Given the description of an element on the screen output the (x, y) to click on. 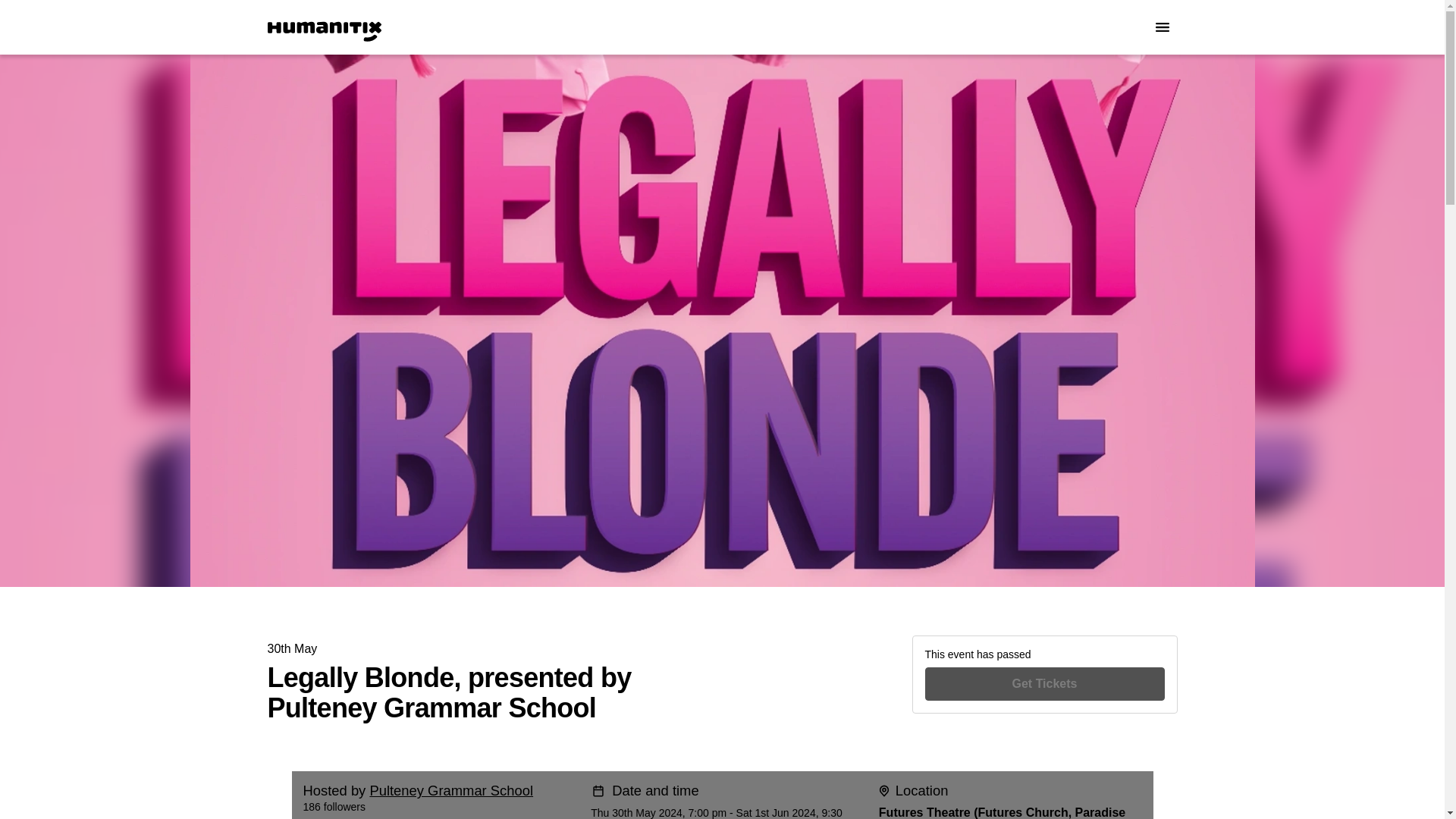
Skip to Content (18, 18)
Get Tickets (1044, 684)
Pulteney Grammar School (450, 790)
